Given the description of an element on the screen output the (x, y) to click on. 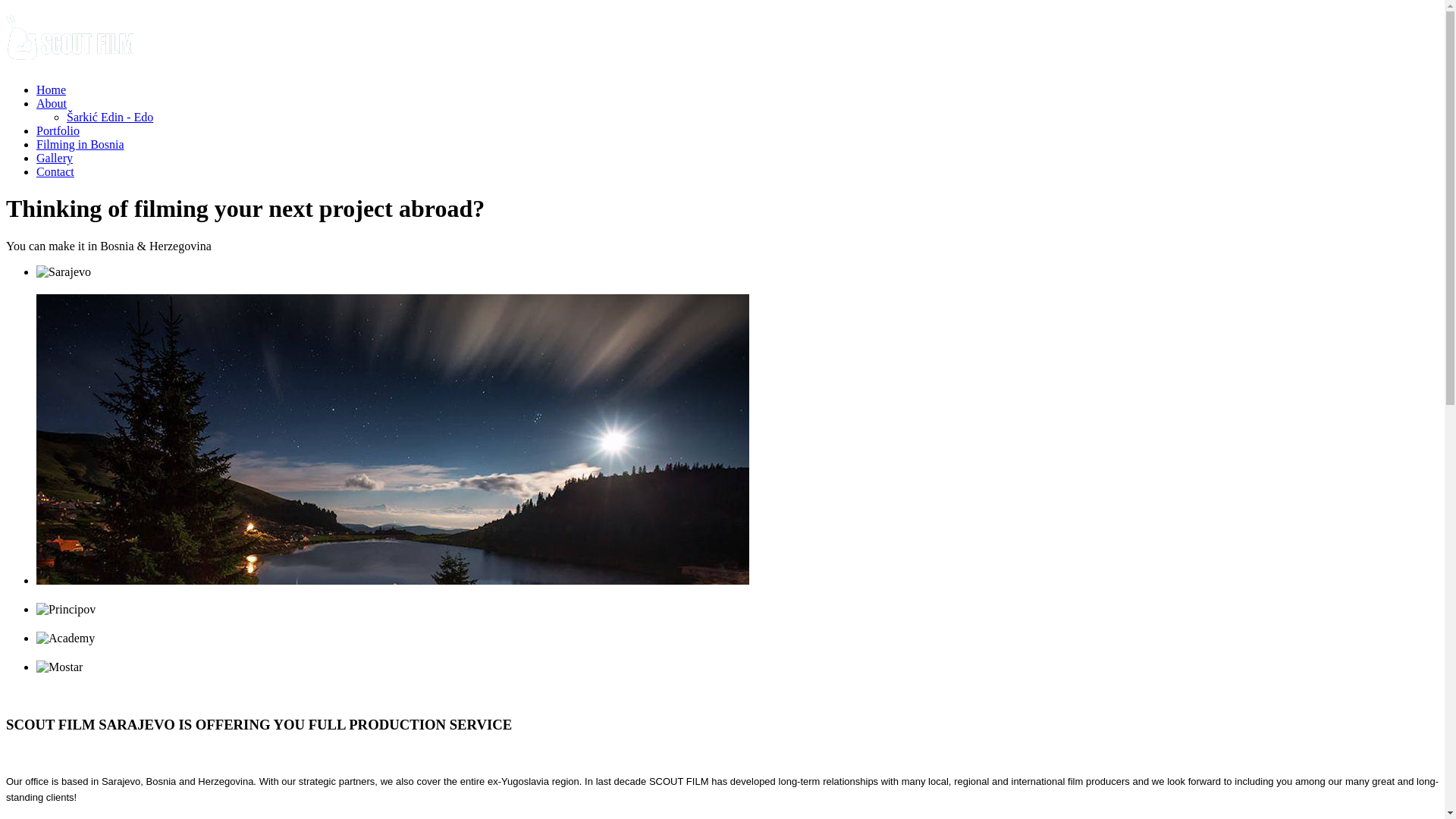
Filming in Bosnia Element type: text (80, 144)
About Element type: text (51, 103)
Contact Element type: text (55, 171)
Home Element type: text (50, 89)
Portfolio Element type: text (57, 130)
Gallery Element type: text (54, 157)
